Given the description of an element on the screen output the (x, y) to click on. 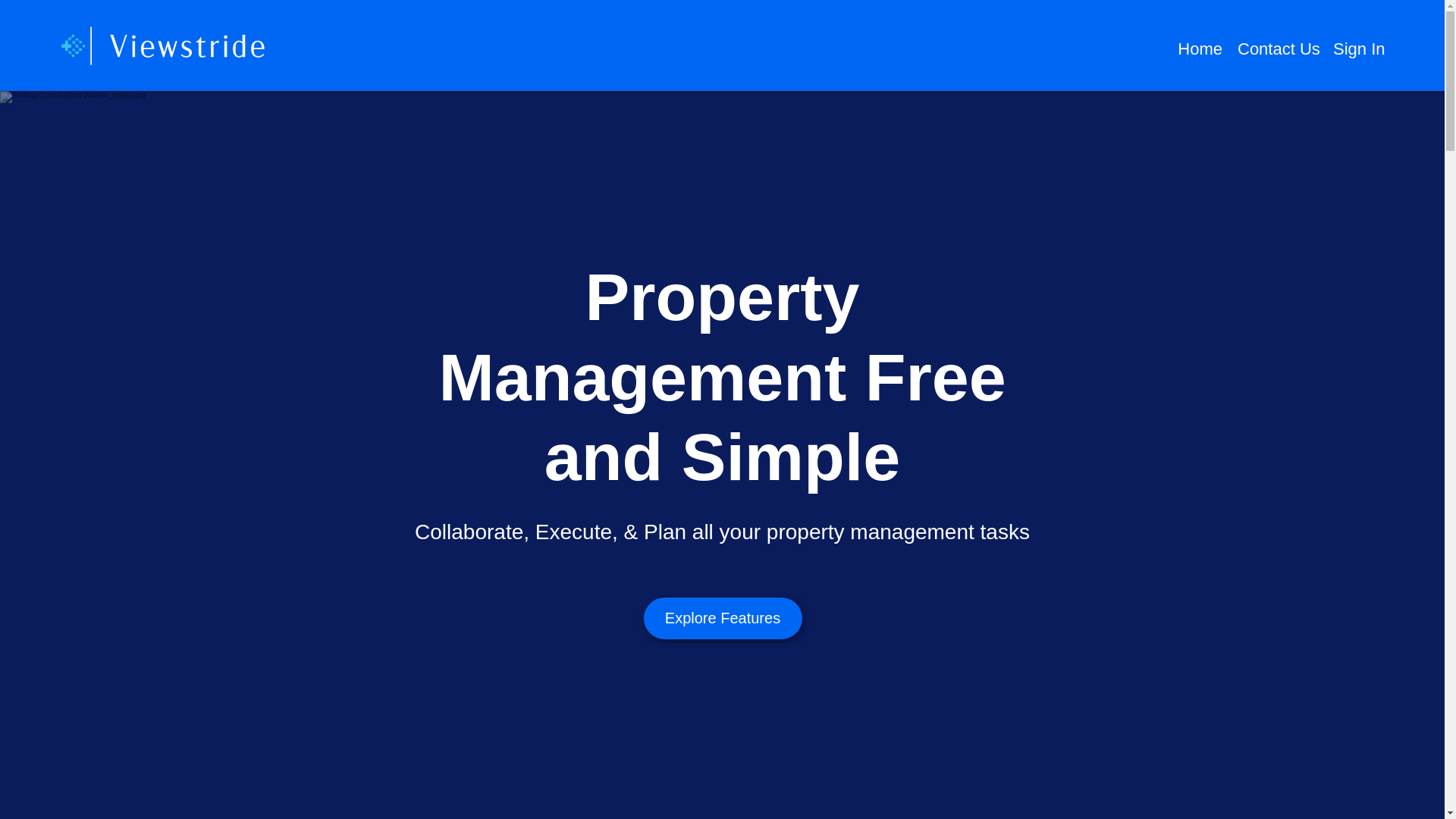
Contact Us (1277, 45)
Home (1200, 45)
Sign In (1357, 45)
Explore Features (722, 618)
